Given the description of an element on the screen output the (x, y) to click on. 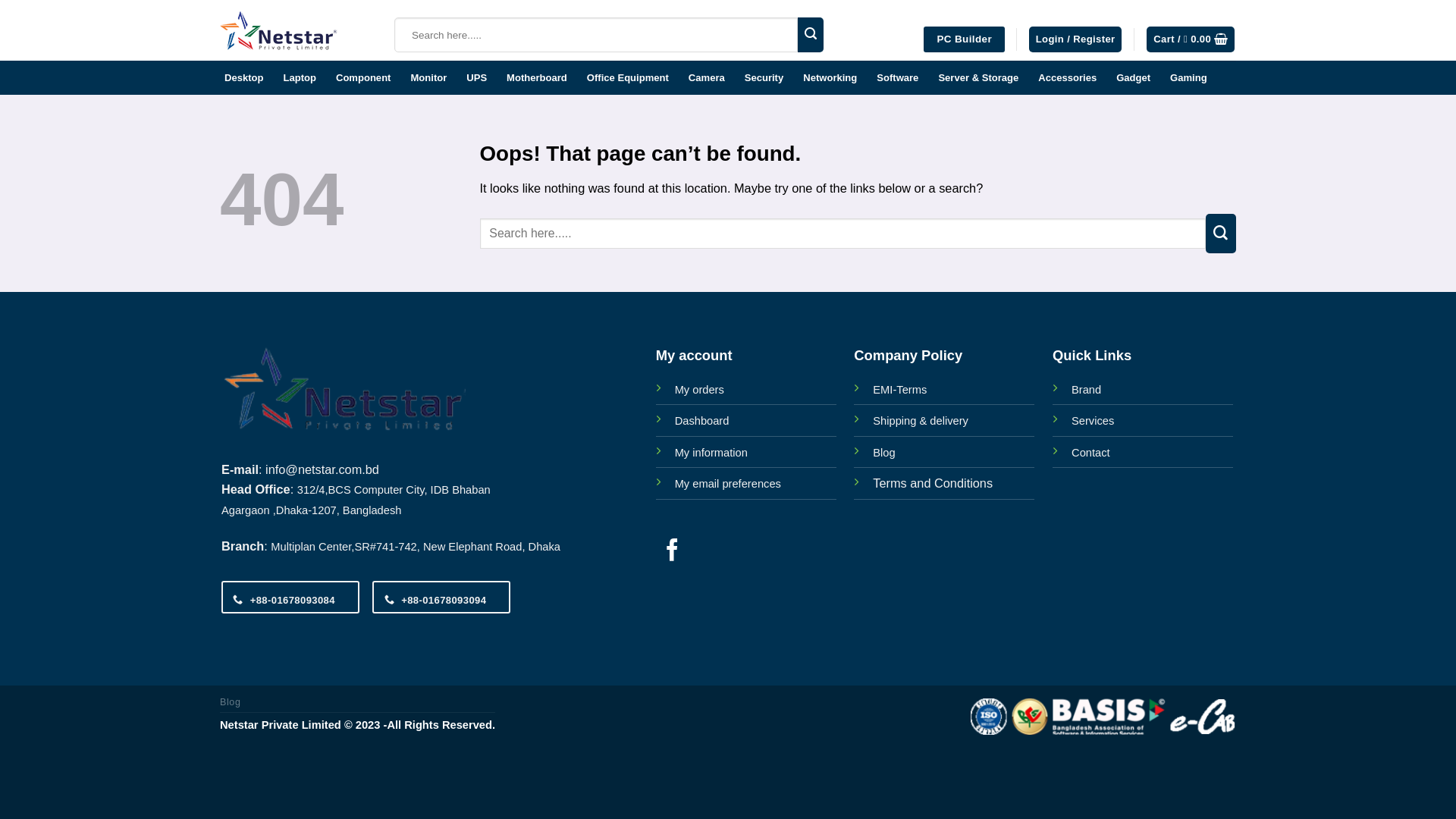
Follow on Facebook Element type: hover (672, 551)
Networking Element type: text (829, 77)
Laptop Element type: text (298, 77)
Terms and Conditions Element type: text (932, 482)
Camera Element type: text (706, 77)
Monitor Element type: text (428, 77)
Blog Element type: text (229, 701)
+88-01678093084 Element type: text (290, 596)
Blog Element type: text (883, 452)
EMI-Terms Element type: text (899, 389)
Motherboard Element type: text (536, 77)
Software Element type: text (897, 77)
Security Element type: text (764, 77)
PC Builder Element type: text (963, 39)
Gadget Element type: text (1133, 77)
Office Equipment Element type: text (627, 77)
My orders Element type: text (699, 389)
My information Element type: text (710, 452)
Services Element type: text (1092, 420)
My email preferences Element type: text (727, 483)
Contact Element type: text (1090, 452)
Login / Register Element type: text (1075, 38)
Brand Element type: text (1086, 389)
Server & Storage Element type: text (978, 77)
Dashboard Element type: text (701, 420)
Netstar - Largest Computer, Laptop & Accessories Shop in BD Element type: hover (295, 29)
Accessories Element type: text (1067, 77)
Component Element type: text (362, 77)
Search Element type: text (810, 34)
UPS Element type: text (476, 77)
Gaming Element type: text (1188, 77)
+88-01678093094 Element type: text (441, 596)
Desktop Element type: text (243, 77)
Shipping & delivery Element type: text (920, 420)
